Given the description of an element on the screen output the (x, y) to click on. 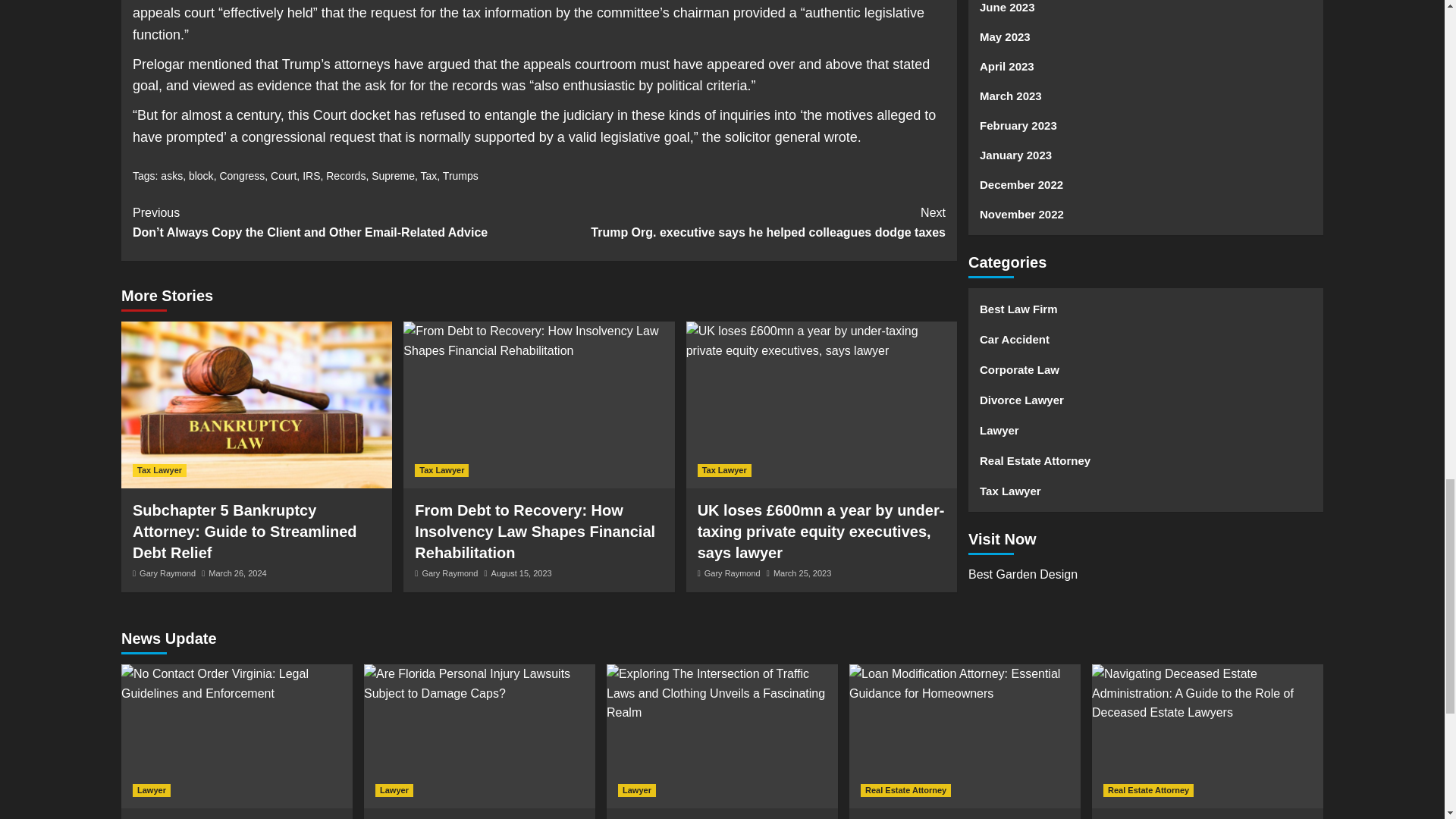
March 26, 2024 (237, 573)
Tax Lawyer (159, 470)
Supreme (392, 175)
Gary Raymond (449, 573)
IRS (311, 175)
No Contact Order Virginia: Legal Guidelines and Enforcement (236, 683)
Trumps (460, 175)
Congress (241, 175)
block (201, 175)
Court (283, 175)
